Given the description of an element on the screen output the (x, y) to click on. 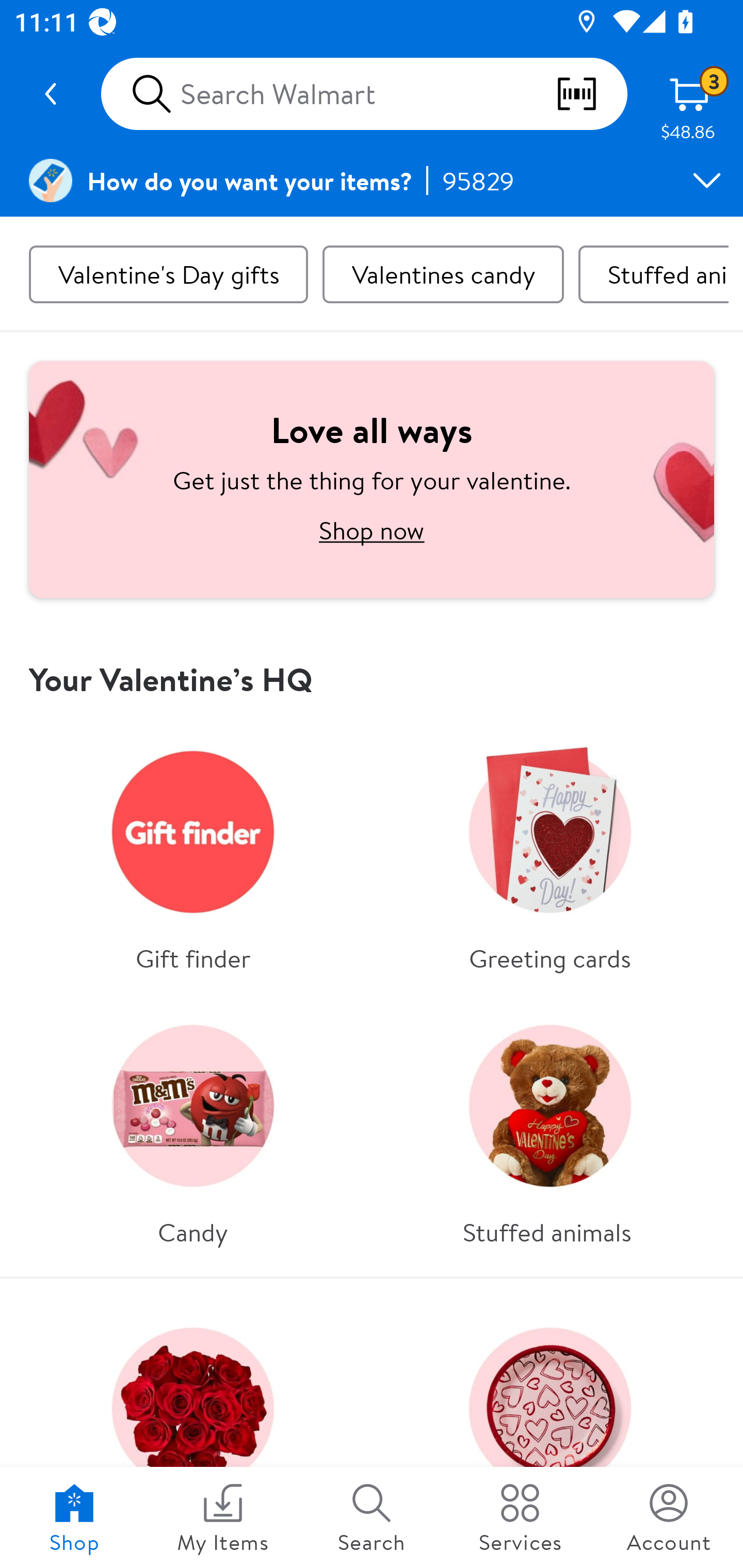
Navigate up (50, 93)
Search Walmart scan barcodes qr codes and more (364, 94)
scan barcodes qr codes and more (591, 94)
Valentine's Day gifts (168, 274)
Valentines candy (442, 274)
Stuffed animals (653, 274)
Shop now (371, 529)
Gift finder (192, 852)
Greeting cards (549, 852)
Candy (192, 1127)
Stuffed animals  (549, 1127)
Flowers (192, 1429)
Party supplies (549, 1429)
My Items (222, 1517)
Search (371, 1517)
Services (519, 1517)
Account (668, 1517)
